Given the description of an element on the screen output the (x, y) to click on. 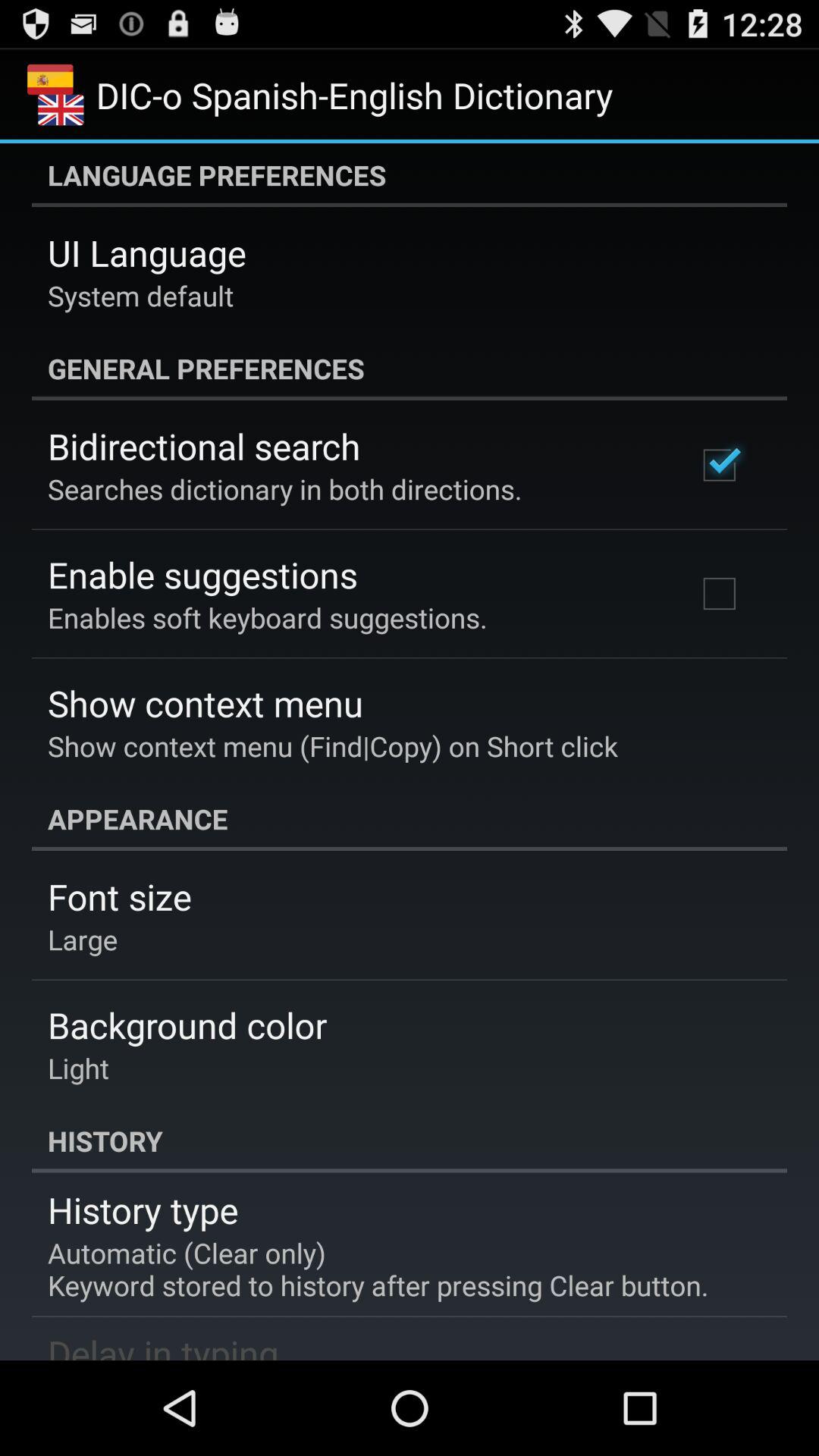
press the appearance item (409, 818)
